Given the description of an element on the screen output the (x, y) to click on. 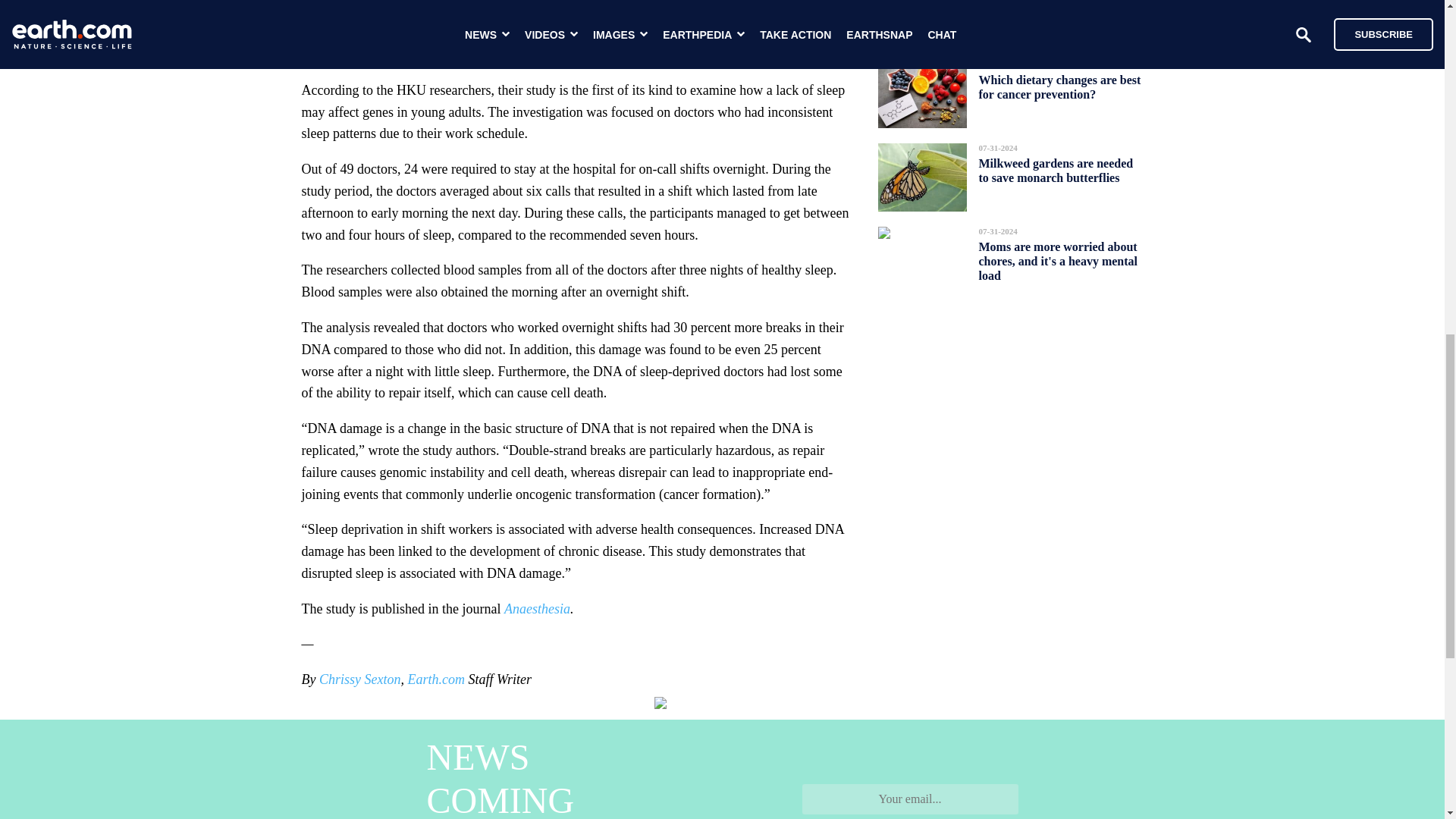
Anaesthesia (536, 608)
Chrissy Sexton (359, 679)
Which dietary changes are best for cancer prevention? (1059, 87)
Milkweed gardens are needed to save monarch butterflies (1055, 170)
Earth.com (435, 679)
Children who eat breakfast are happier in life (1058, 12)
